Given the description of an element on the screen output the (x, y) to click on. 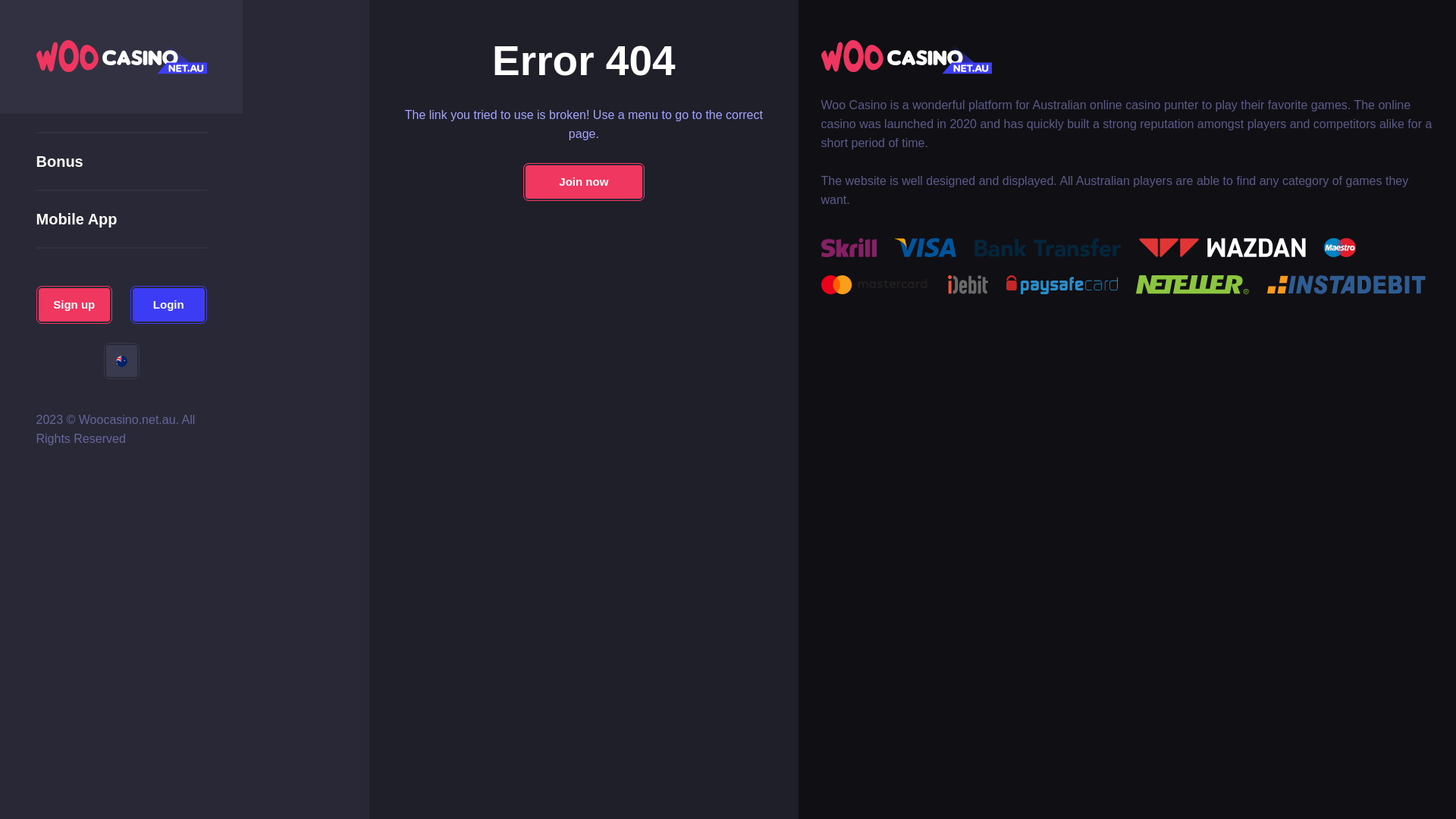
Login Element type: text (168, 304)
Mobile App Element type: text (76, 219)
Sign up Element type: text (74, 304)
Join now Element type: text (583, 181)
Bonus Element type: text (59, 161)
English Element type: hover (120, 360)
